Given the description of an element on the screen output the (x, y) to click on. 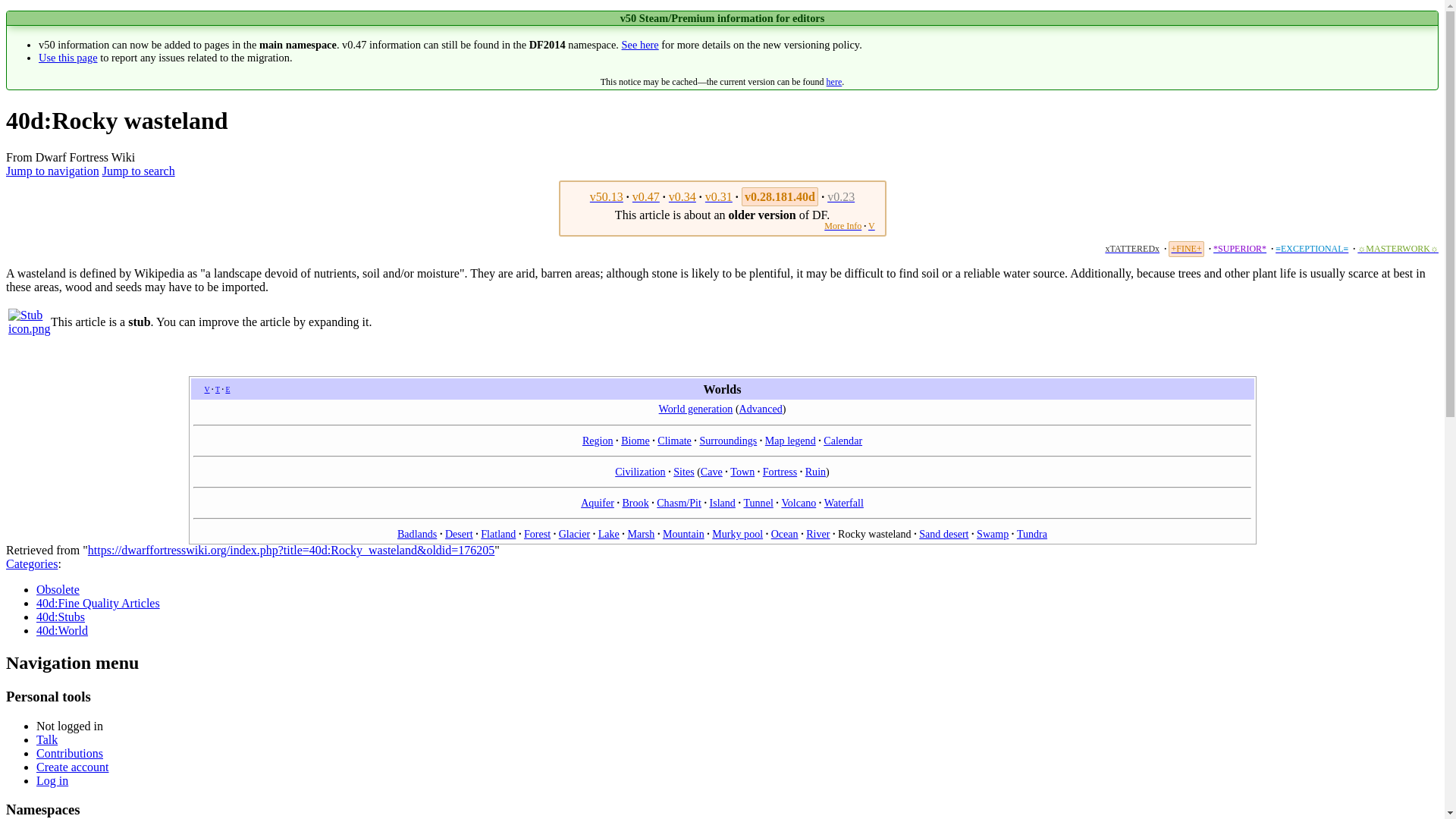
Climate (674, 440)
Template:40d world (207, 388)
Jump to navigation (52, 170)
Dwarf Fortress Wiki:Quality (1239, 248)
V (871, 225)
See here (640, 44)
Town (742, 471)
Rocky wasteland (606, 196)
v0.31 (718, 196)
Map legend (790, 440)
Biome (635, 440)
World generation (696, 408)
v0.34:Rocky wasteland (681, 196)
E (227, 388)
v0.31:Rocky wasteland (718, 196)
